Given the description of an element on the screen output the (x, y) to click on. 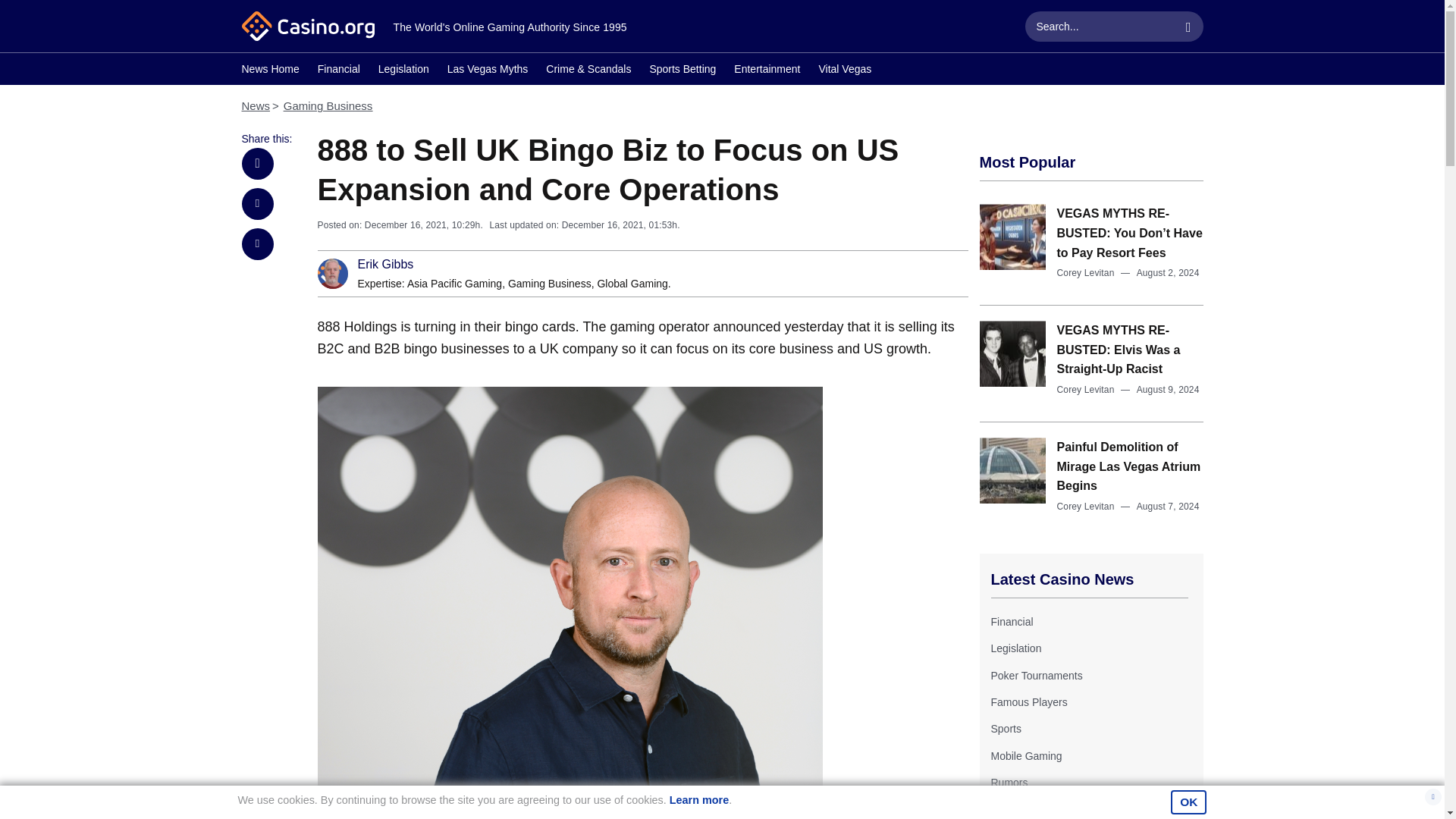
Corey Levitan (1086, 506)
Erik Gibbs (385, 264)
Gaming Business (327, 105)
Rumors (1008, 782)
VEGAS MYTHS RE-BUSTED: Elvis Was a Straight-Up Racist (1118, 349)
Sports (1005, 728)
Vital Vegas (845, 70)
Asia Pacific Gaming (454, 283)
Corey Levitan (1086, 389)
Mobile Gaming (1025, 756)
